Given the description of an element on the screen output the (x, y) to click on. 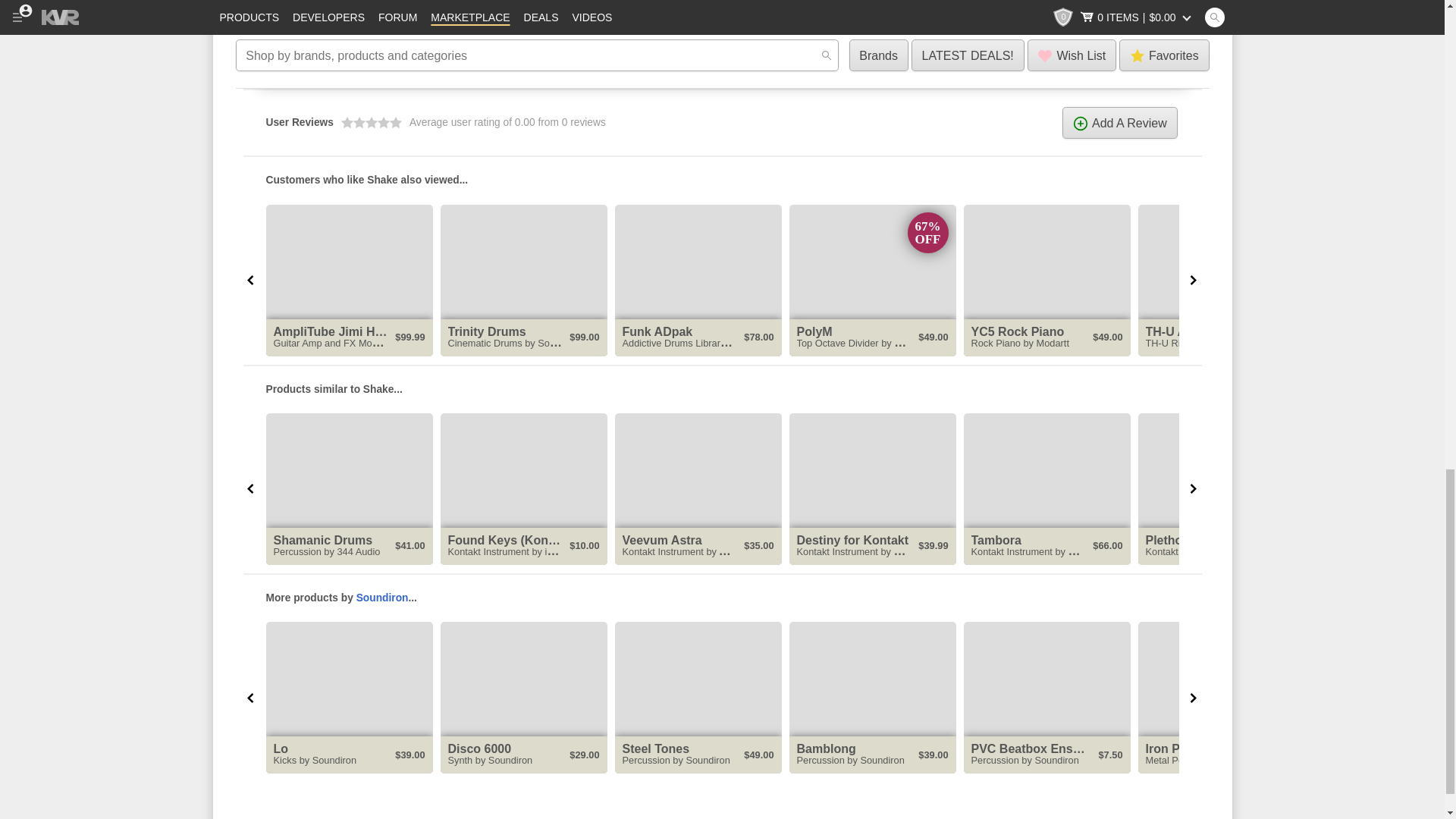
Customers who like Shake also viewed... (722, 179)
More products by Soundiron... (722, 597)
Products similar to Shake... (722, 388)
